Given the description of an element on the screen output the (x, y) to click on. 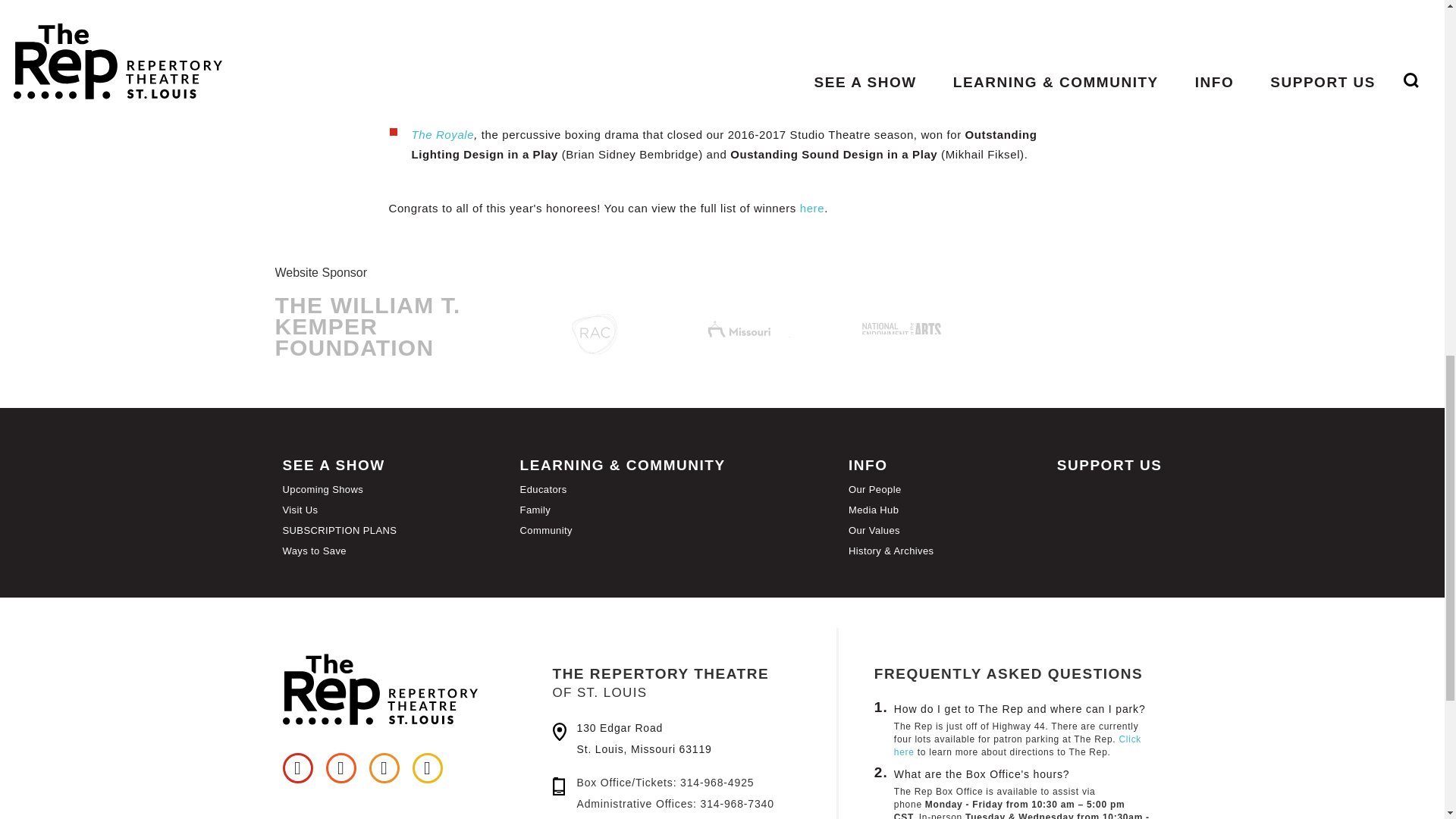
Upcoming Shows (322, 489)
facebook (297, 767)
Repertory Theatre of St. Louis (395, 682)
Visit Us (299, 509)
youtube (427, 767)
SEE A SHOW (333, 465)
Educators (543, 489)
SUBSCRIPTION PLANS (339, 530)
The Royale (442, 133)
here (811, 207)
